Given the description of an element on the screen output the (x, y) to click on. 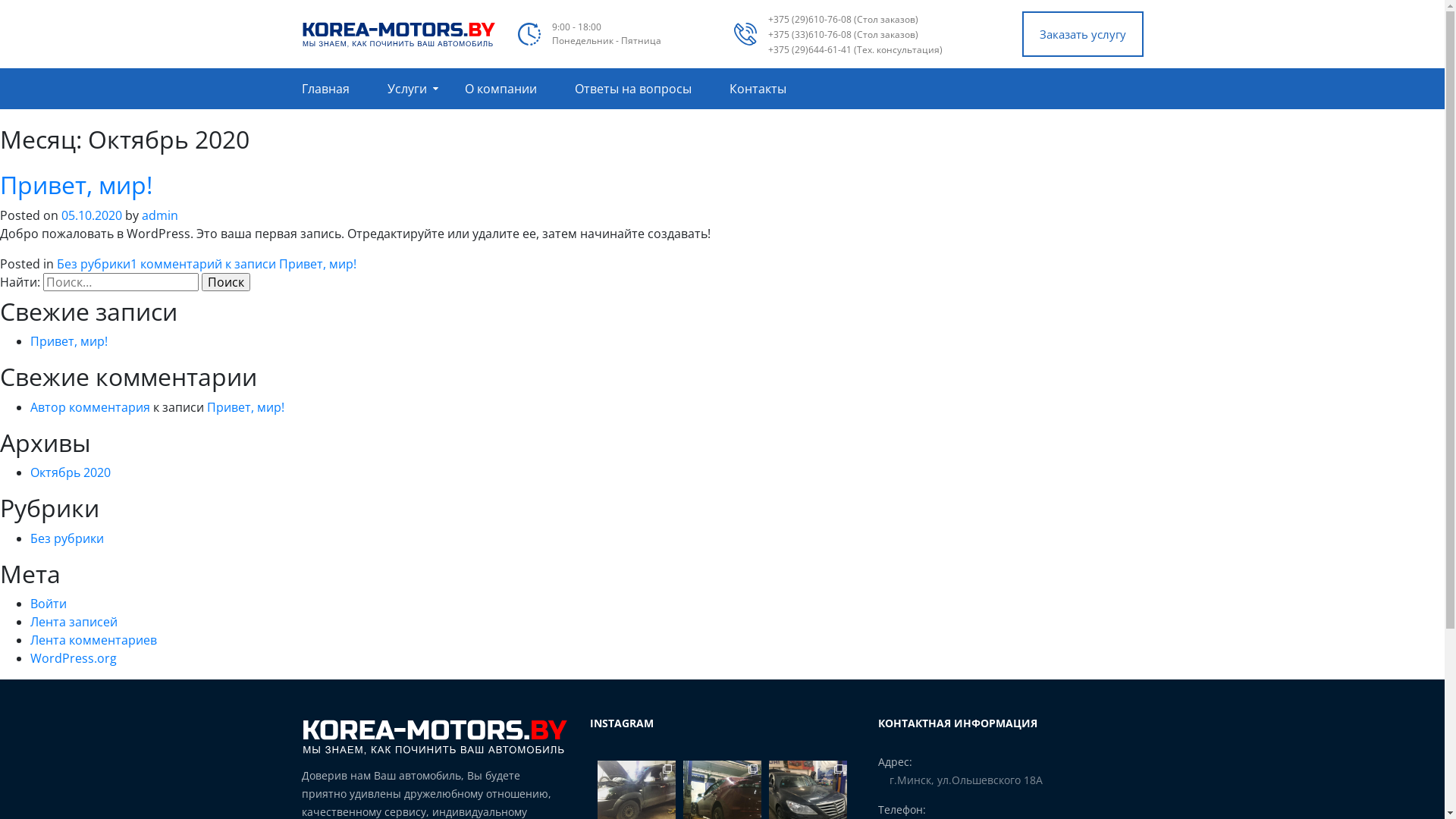
admin Element type: text (159, 215)
05.10.2020 Element type: text (91, 215)
WordPress.org Element type: text (73, 657)
